Given the description of an element on the screen output the (x, y) to click on. 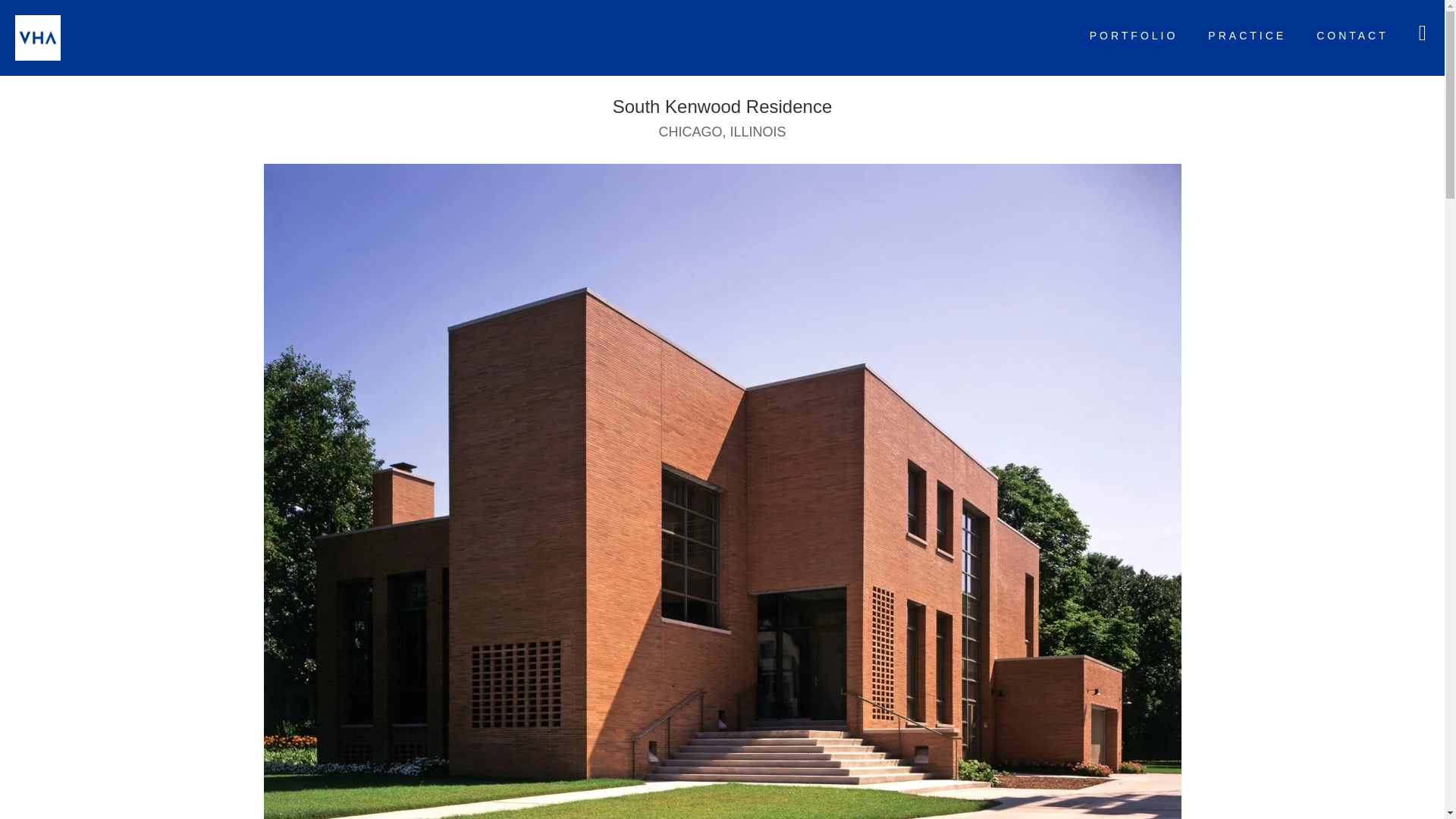
PRACTICE (1242, 35)
vha-logo-mark-white (721, 37)
CONTACT (1348, 35)
PORTFOLIO (1129, 35)
